Given the description of an element on the screen output the (x, y) to click on. 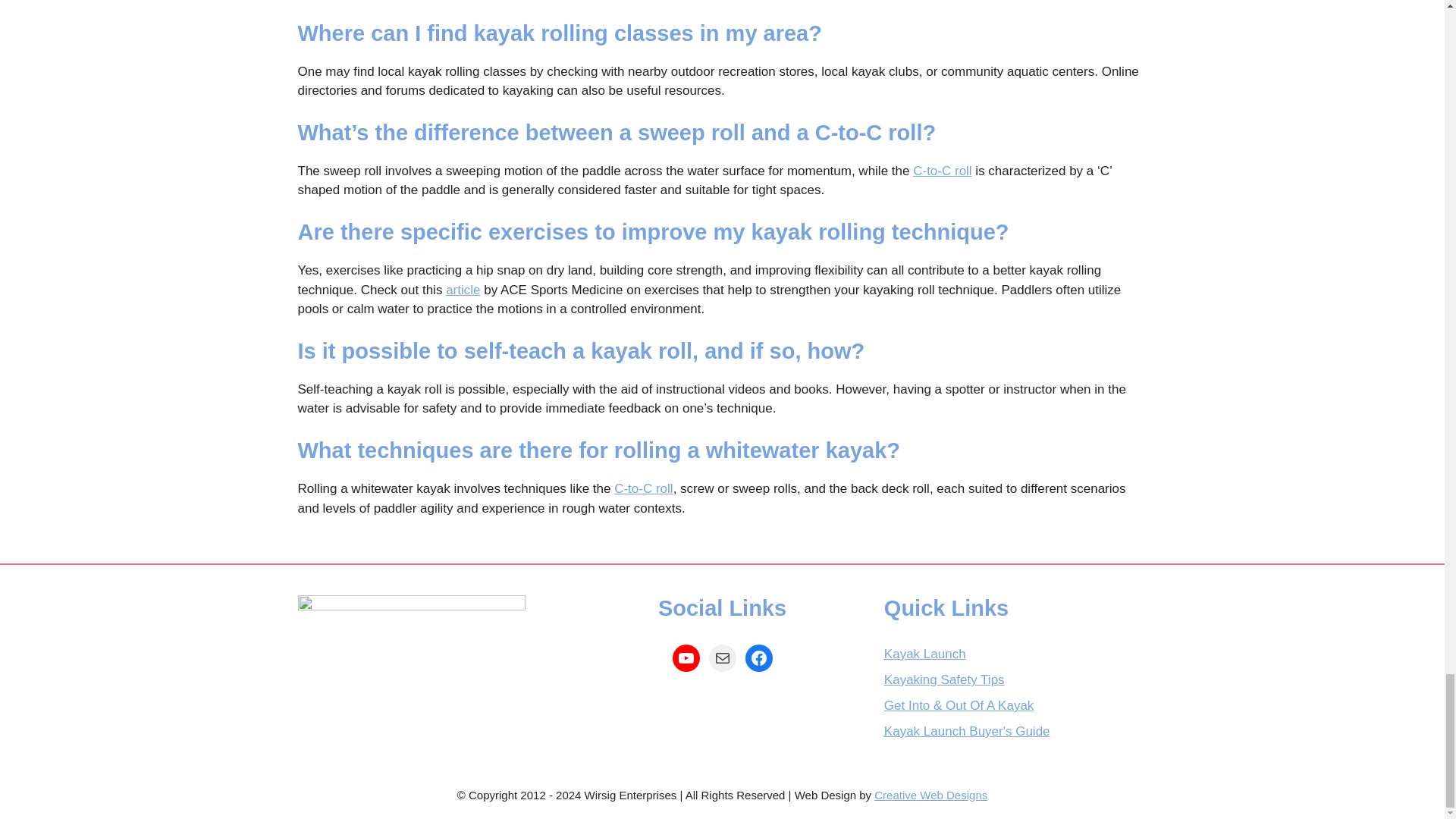
Kayak Launch (924, 653)
Kayaking Safety Tips (943, 679)
YouTube (684, 657)
Mail (721, 657)
article (462, 289)
C-to-C roll (941, 170)
Facebook (757, 657)
C-to-C roll (643, 488)
Creative Web Designs (931, 794)
Kayak Launch Buyer's Guide (966, 730)
